Given the description of an element on the screen output the (x, y) to click on. 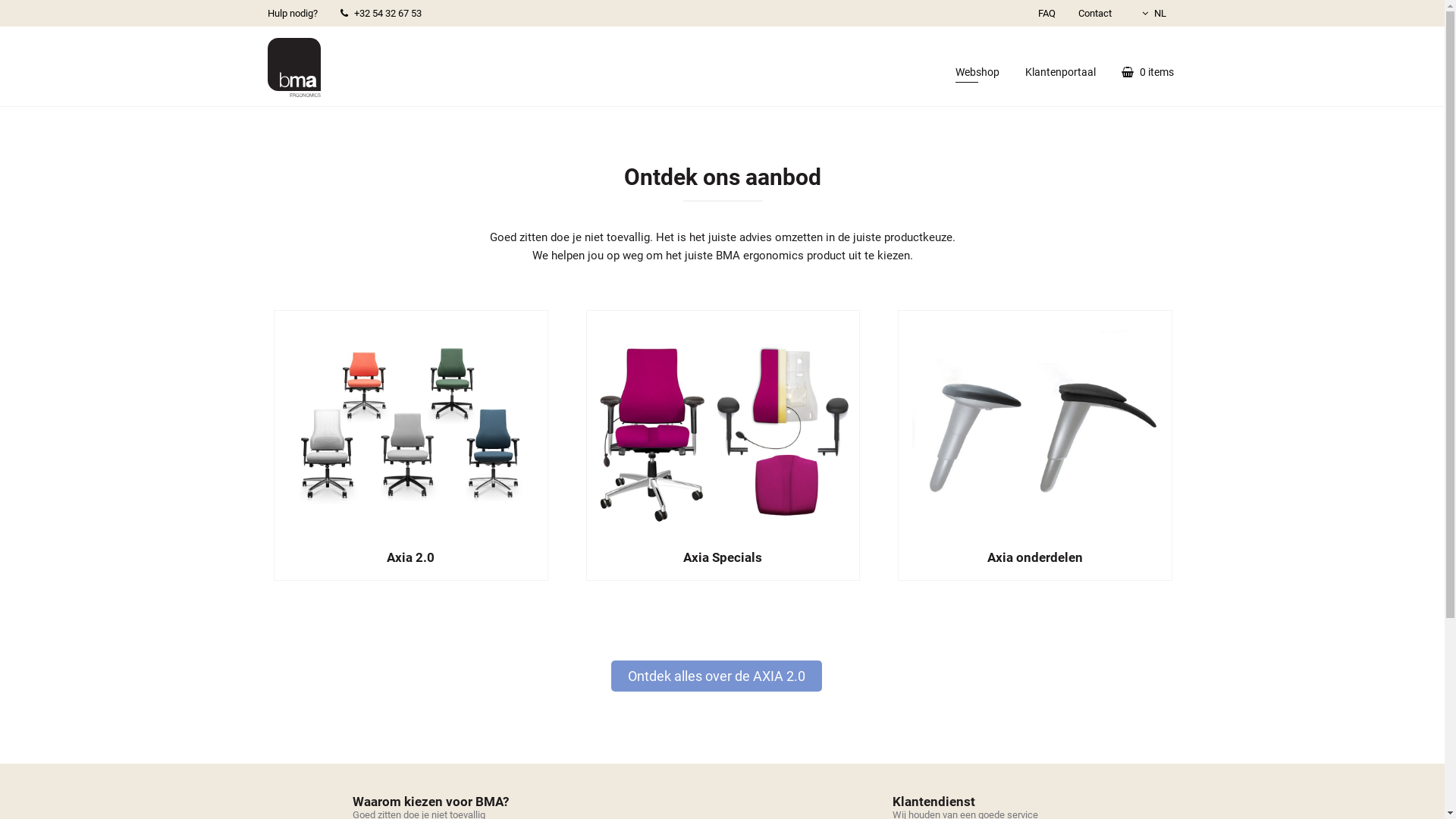
Ontdek alles over de AXIA 2.0 Element type: text (716, 675)
+32 54 32 67 53 Element type: text (381, 13)
FAQ Element type: text (1046, 13)
Contact Element type: text (1094, 13)
Webshop Element type: text (976, 66)
0 items Element type: text (1147, 66)
Axia Specials Element type: text (722, 445)
Axia 2.0 Element type: text (410, 445)
BMA Ergonomics - Home Element type: text (293, 67)
Axia onderdelen Element type: text (1034, 445)
Klantenportaal Element type: text (1059, 66)
